Given the description of an element on the screen output the (x, y) to click on. 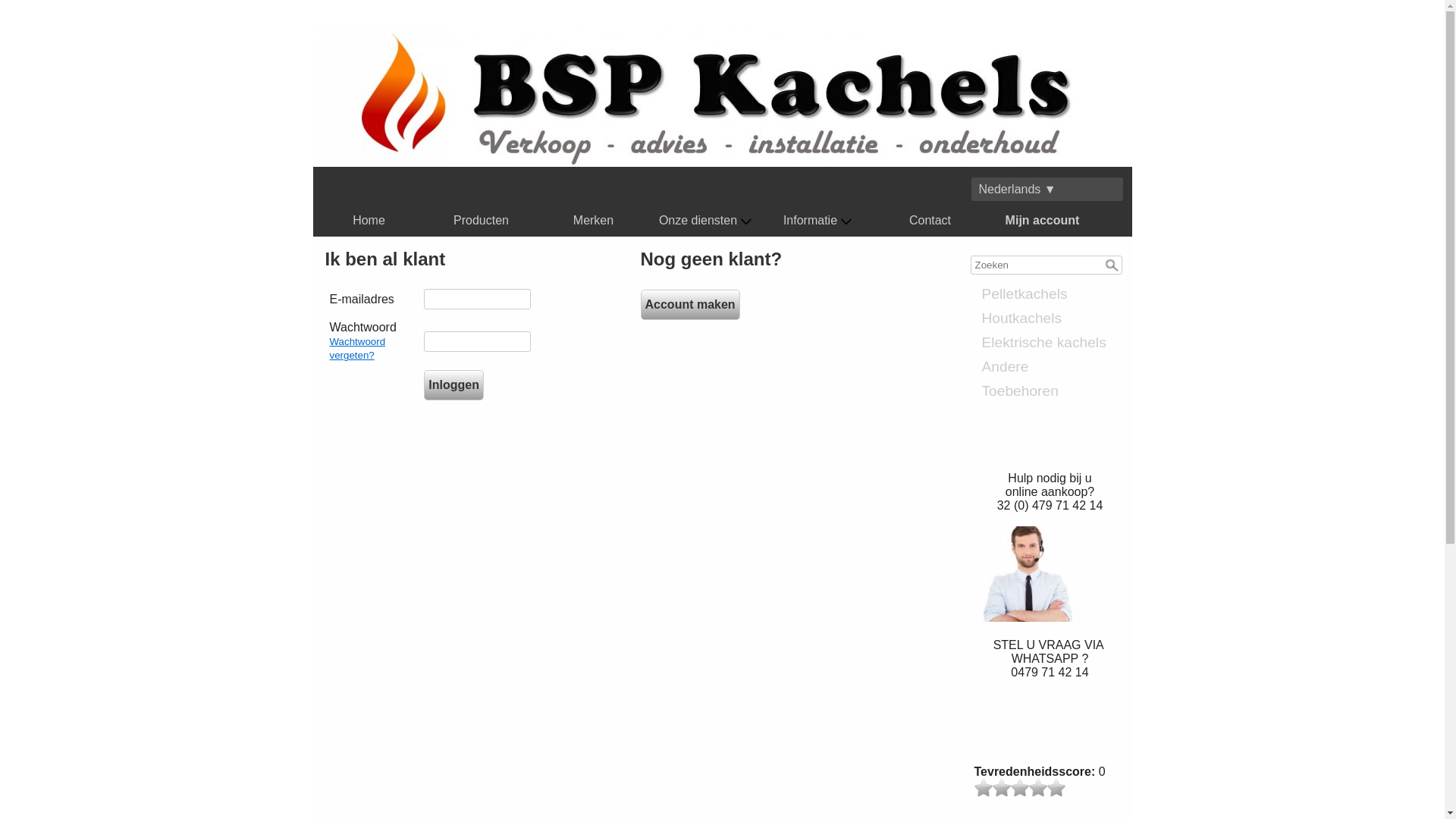
Home Element type: text (368, 220)
Andere Element type: text (1049, 366)
Onze diensten Element type: text (705, 220)
Wachtwoord vergeten? Element type: text (357, 347)
Toebehoren Element type: text (1049, 391)
Houtkachels Element type: text (1049, 318)
Informatie Element type: text (817, 220)
Pelletkachels Element type: text (1049, 294)
Merken Element type: text (593, 220)
Elektrische kachels Element type: text (1049, 342)
Producten Element type: text (481, 220)
Account maken Element type: text (689, 304)
Contact Element type: text (930, 220)
Mijn account Element type: text (1042, 220)
Inloggen Element type: text (453, 385)
